Given the description of an element on the screen output the (x, y) to click on. 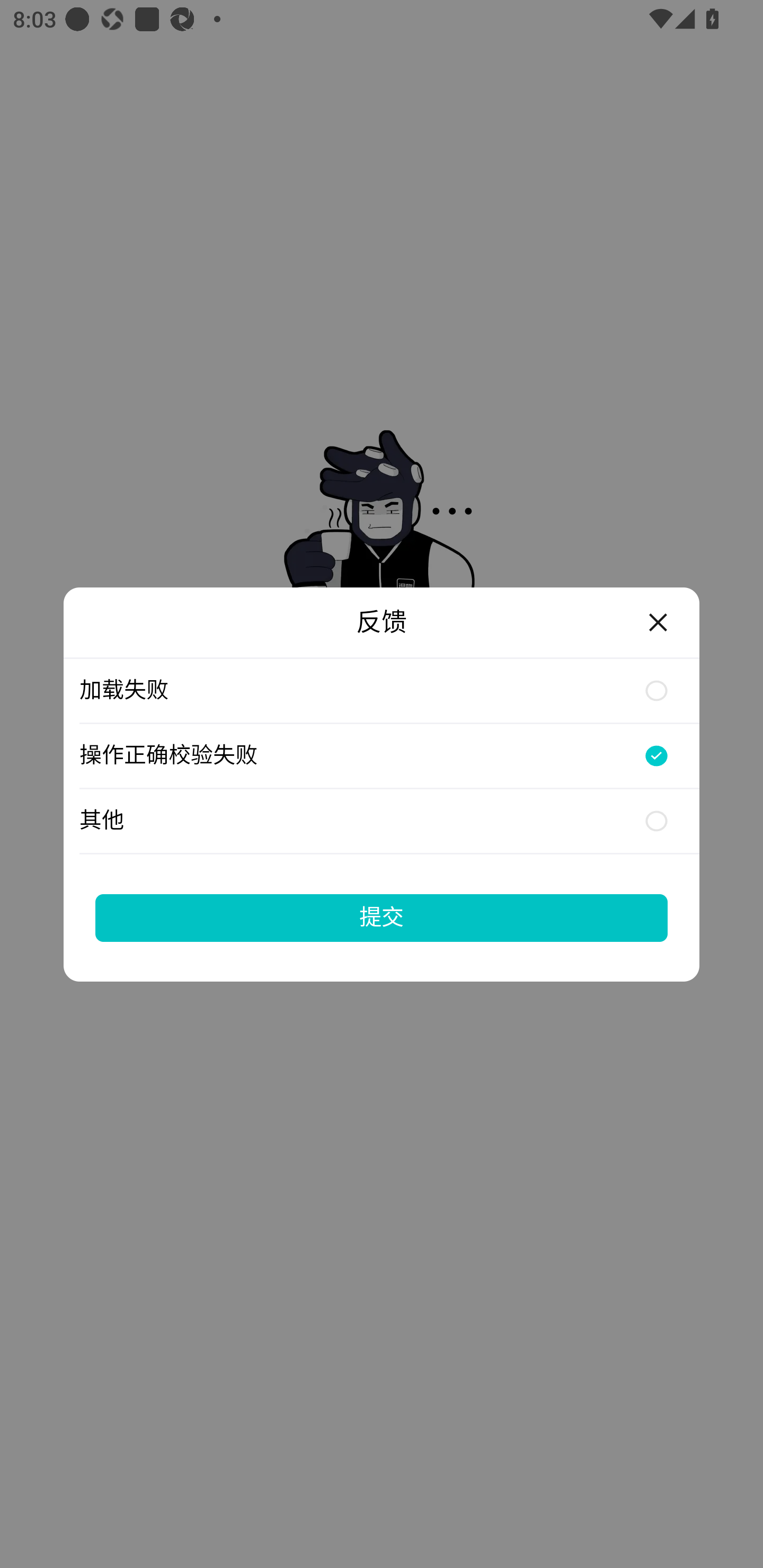
提交 (381, 917)
